Given the description of an element on the screen output the (x, y) to click on. 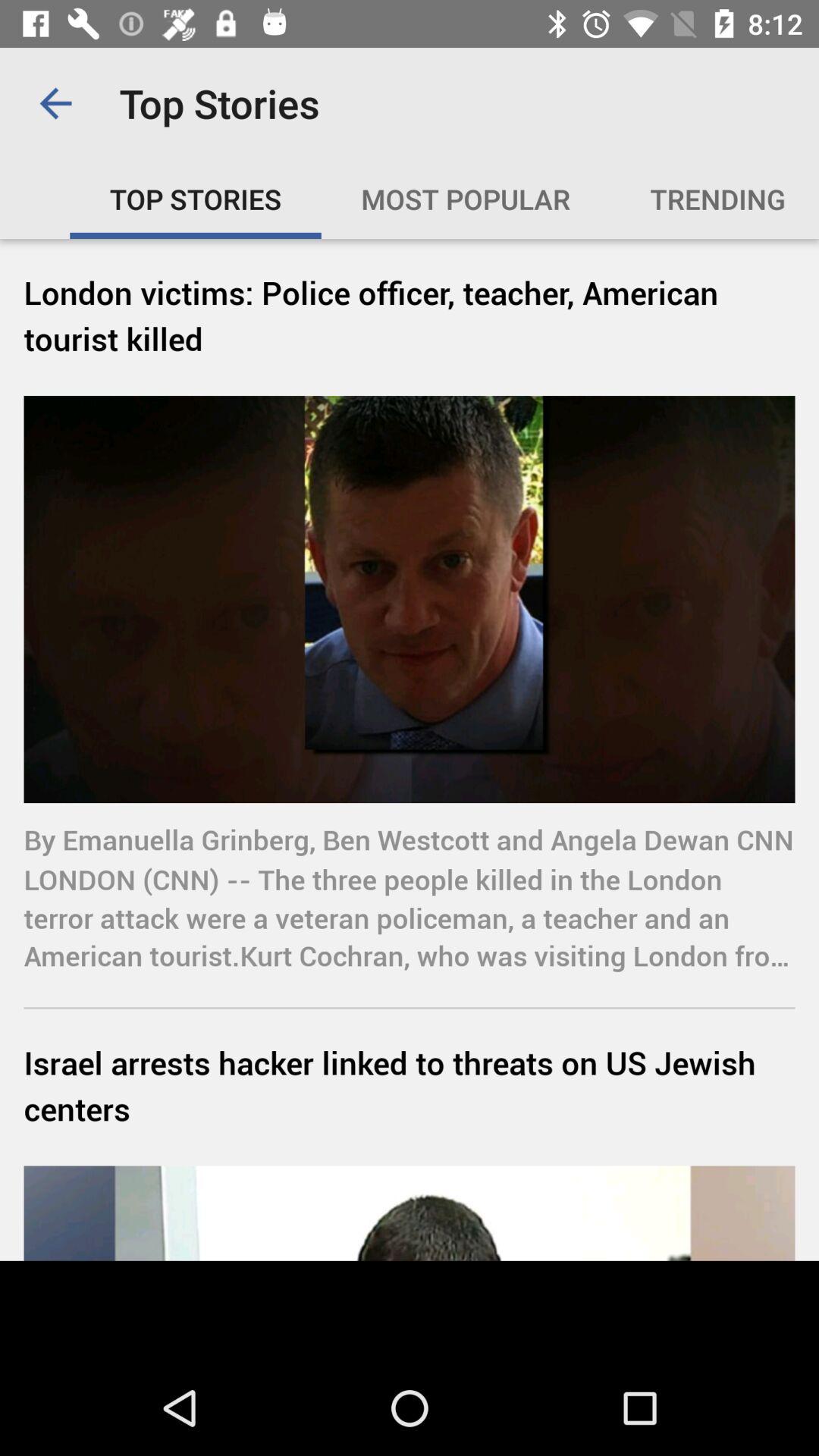
press icon to the left of top stories icon (55, 103)
